Given the description of an element on the screen output the (x, y) to click on. 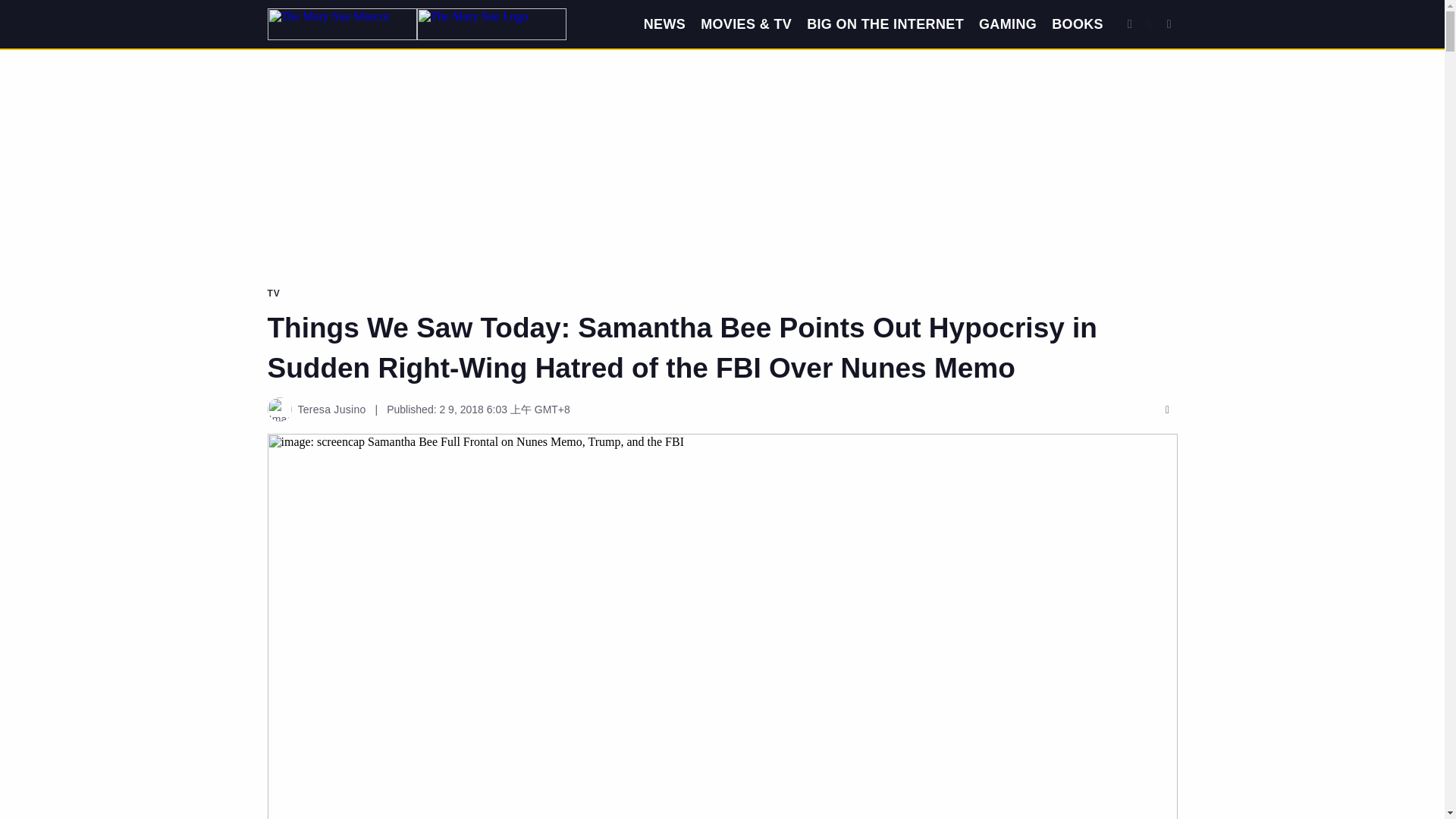
BOOKS (1077, 23)
NEWS (664, 23)
BIG ON THE INTERNET (884, 23)
GAMING (1007, 23)
